Given the description of an element on the screen output the (x, y) to click on. 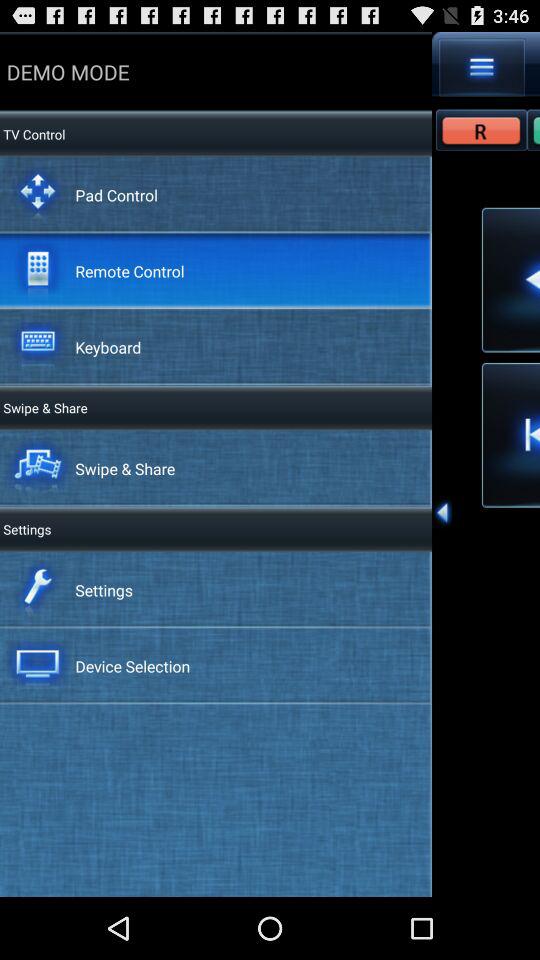
open item below the demo mode icon (116, 194)
